Given the description of an element on the screen output the (x, y) to click on. 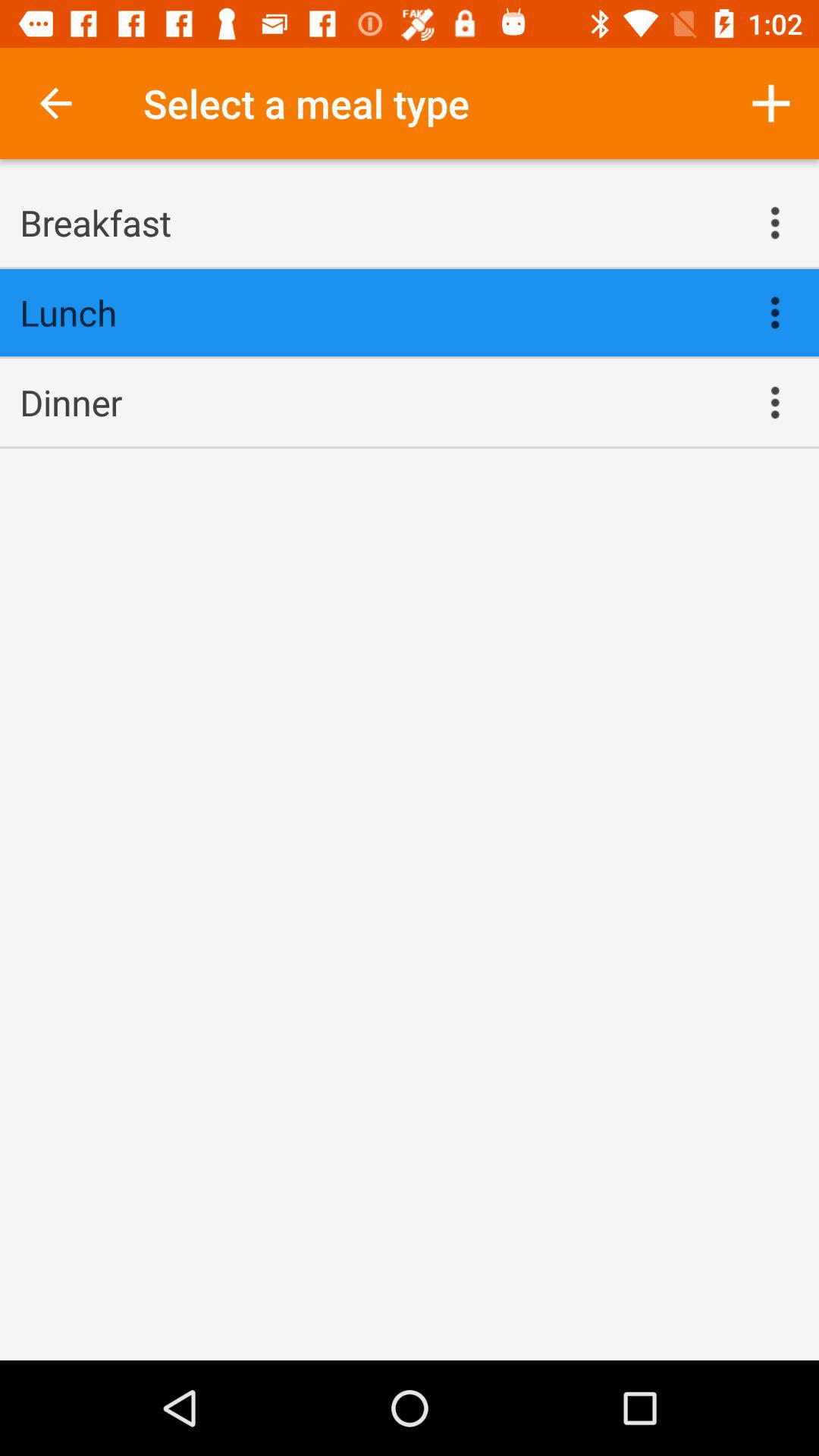
choose item to the right of select a meal item (771, 103)
